Given the description of an element on the screen output the (x, y) to click on. 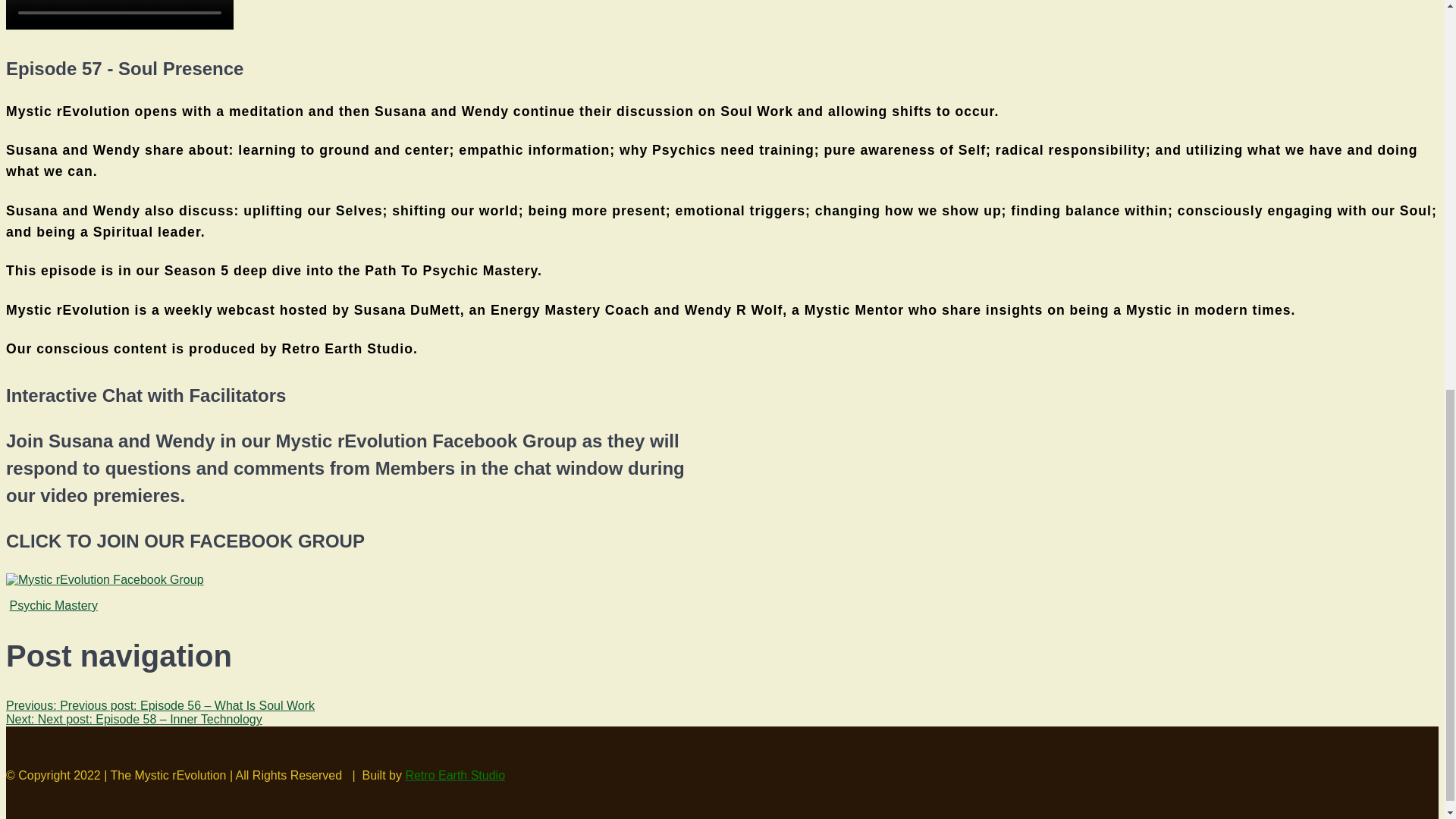
CLICK TO JOIN OUR FACEBOOK GROUP (104, 580)
Retro Earth Studio (454, 775)
Psychic Mastery (52, 604)
